Given the description of an element on the screen output the (x, y) to click on. 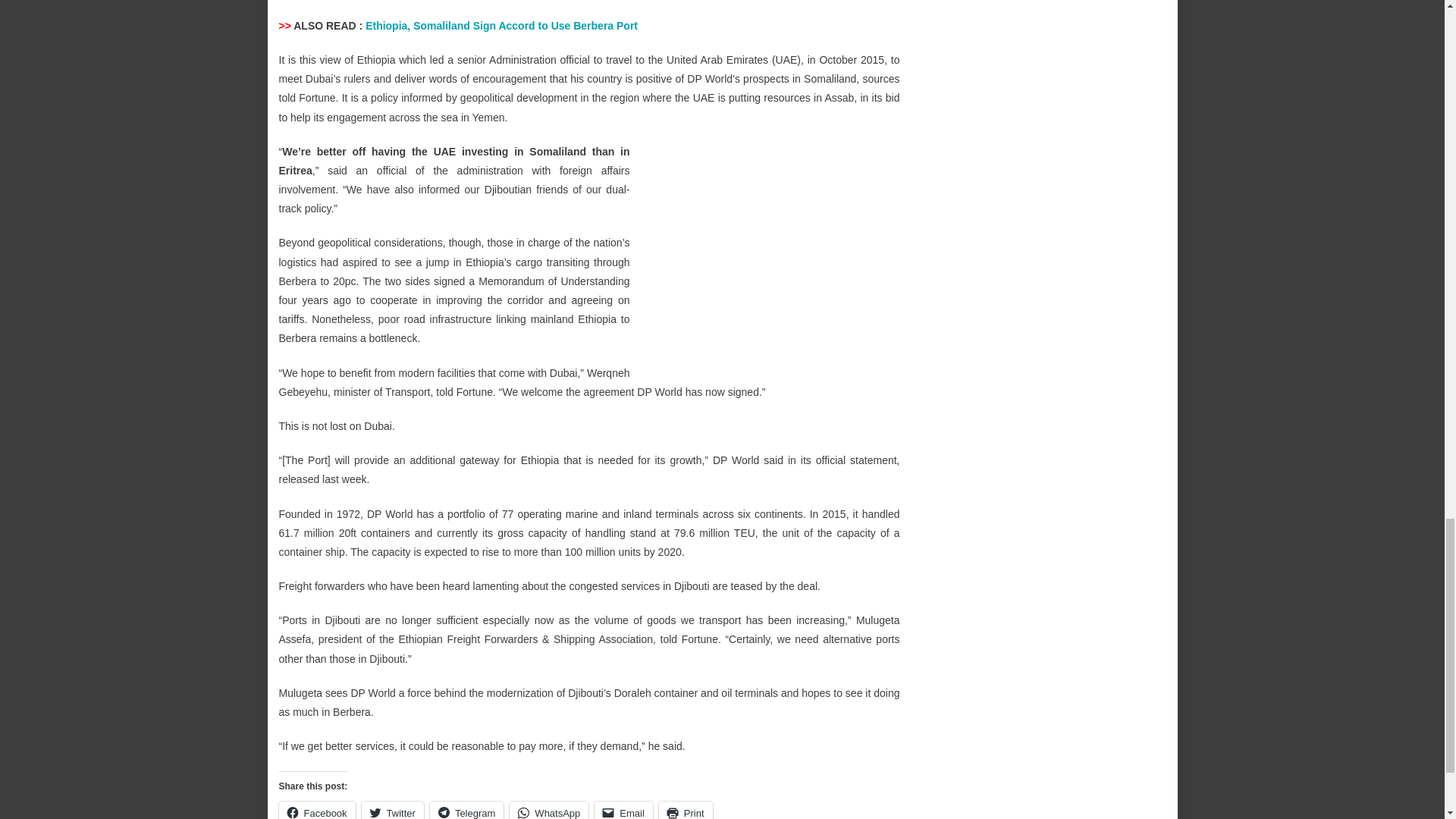
Facebook (317, 810)
Click to share on Facebook (317, 810)
Email (623, 810)
Print (686, 810)
Click to share on Telegram (466, 810)
Click to share on WhatsApp (548, 810)
Click to email a link to a friend (623, 810)
Twitter (392, 810)
Click to print (686, 810)
Click to share on Twitter (392, 810)
Ethiopia, Somaliland Sign Accord to Use Berbera Port (501, 25)
Telegram (466, 810)
WhatsApp (548, 810)
